Given the description of an element on the screen output the (x, y) to click on. 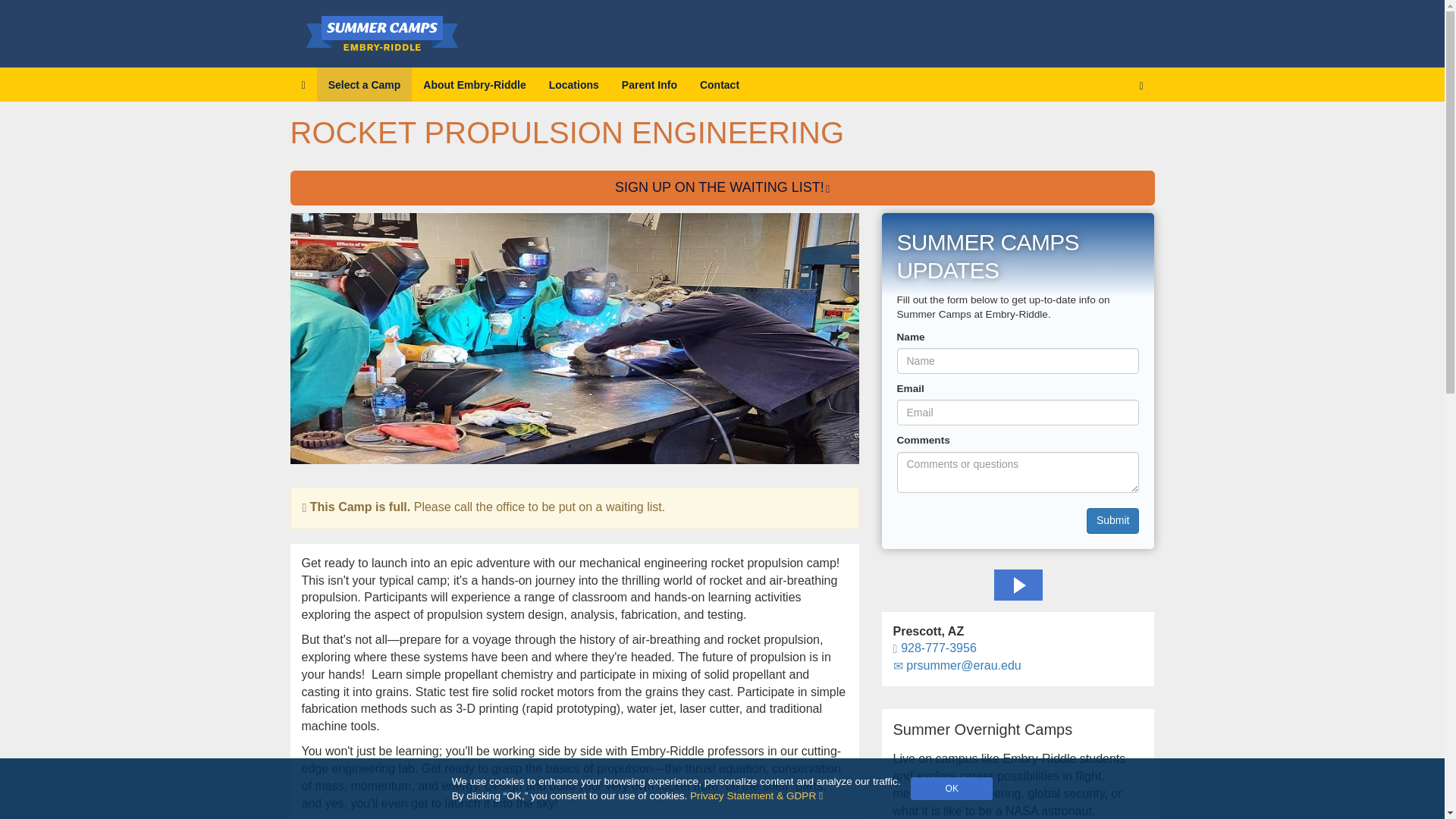
Contact (719, 83)
Locations (573, 83)
928-777-3956 (934, 647)
SIGN UP ON THE WAITING LIST! (721, 187)
Select a Camp (364, 83)
Parent Info (649, 83)
This link will open in a new window or tab. (756, 795)
Submit (1113, 520)
SIGN UP ON THE WAITING LIST! (721, 187)
